Given the description of an element on the screen output the (x, y) to click on. 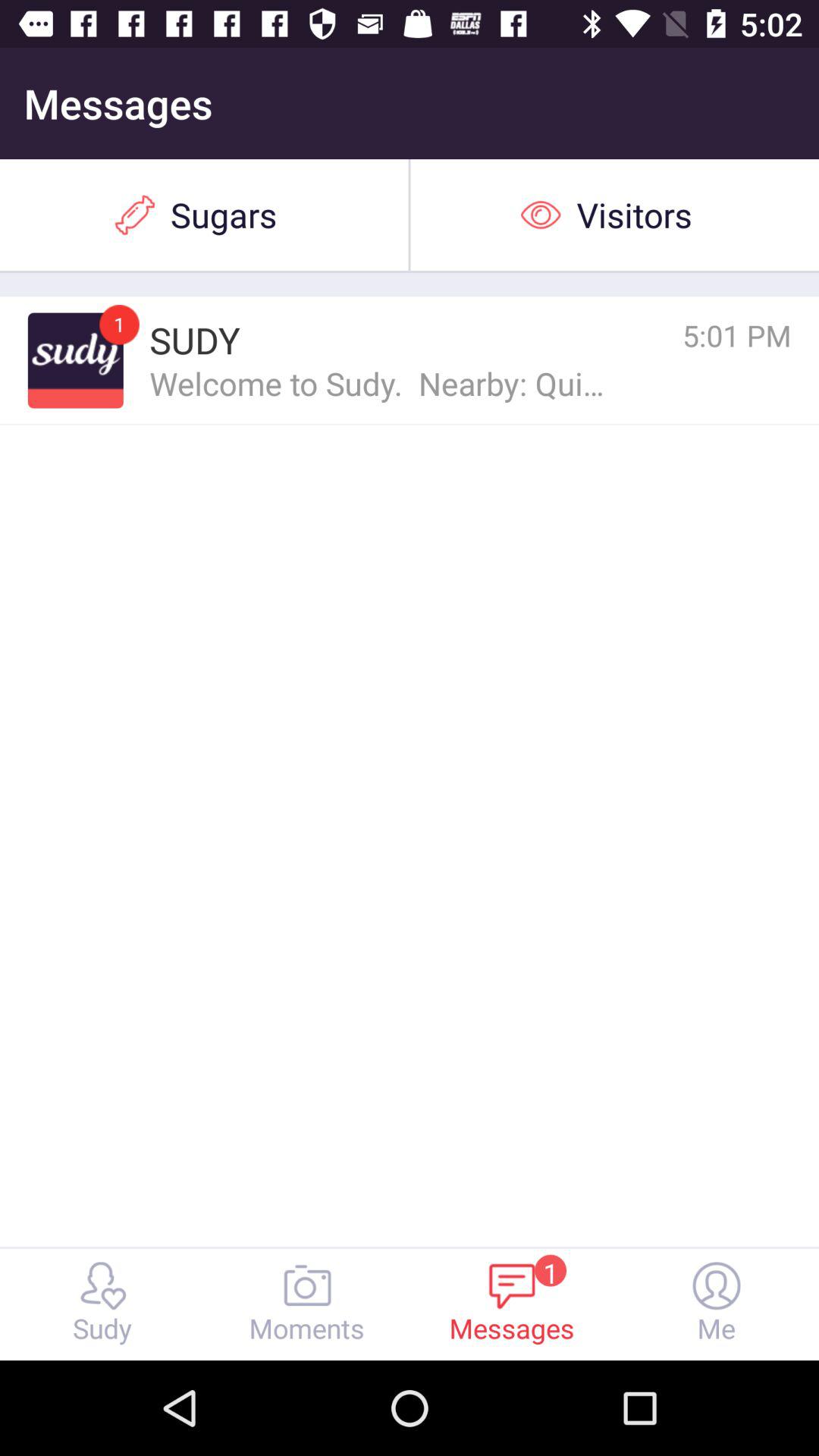
tap item below the sudy icon (379, 381)
